Given the description of an element on the screen output the (x, y) to click on. 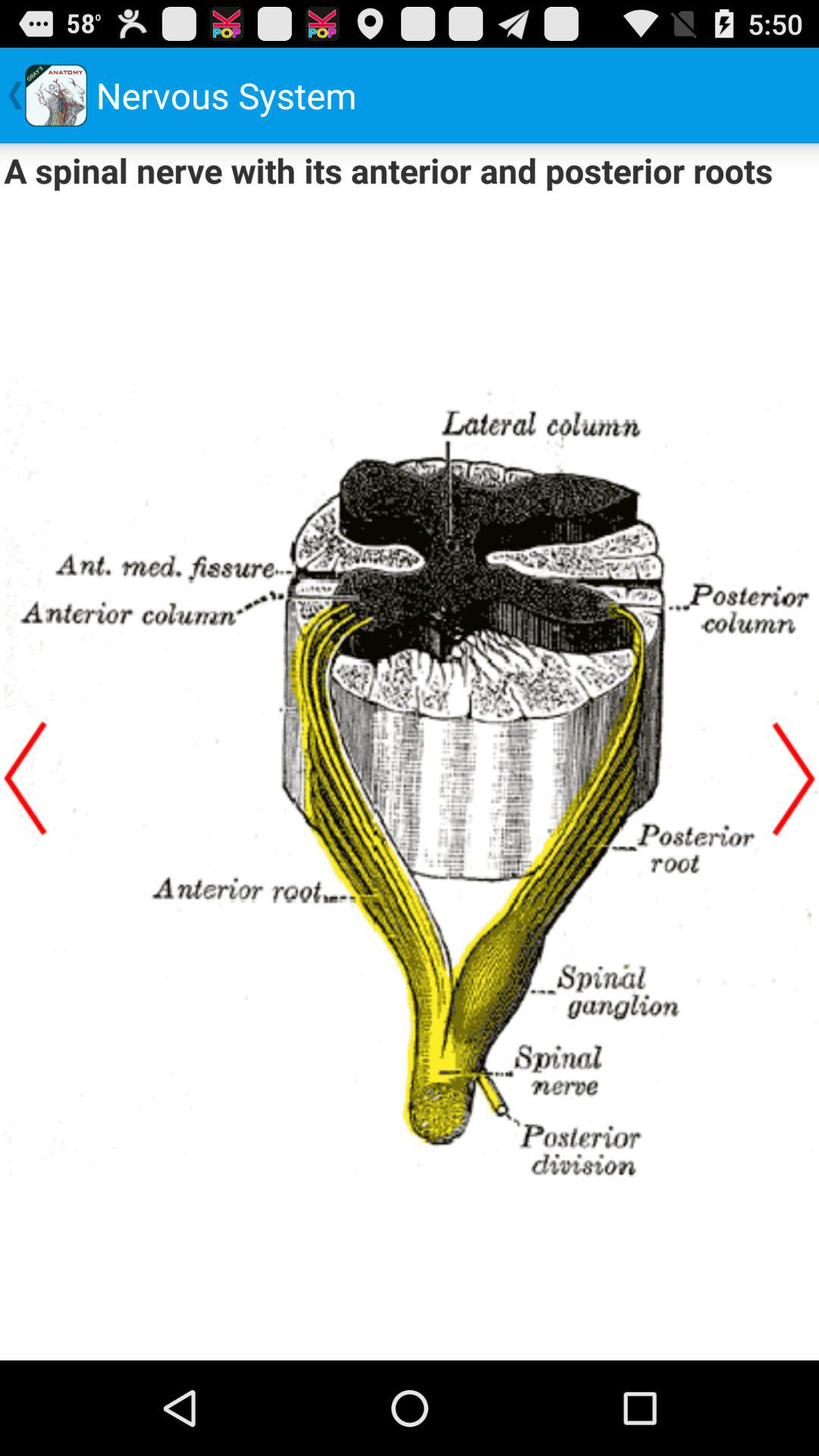
image of a spinal nerve with its anterior and posterior roots (409, 778)
